Given the description of an element on the screen output the (x, y) to click on. 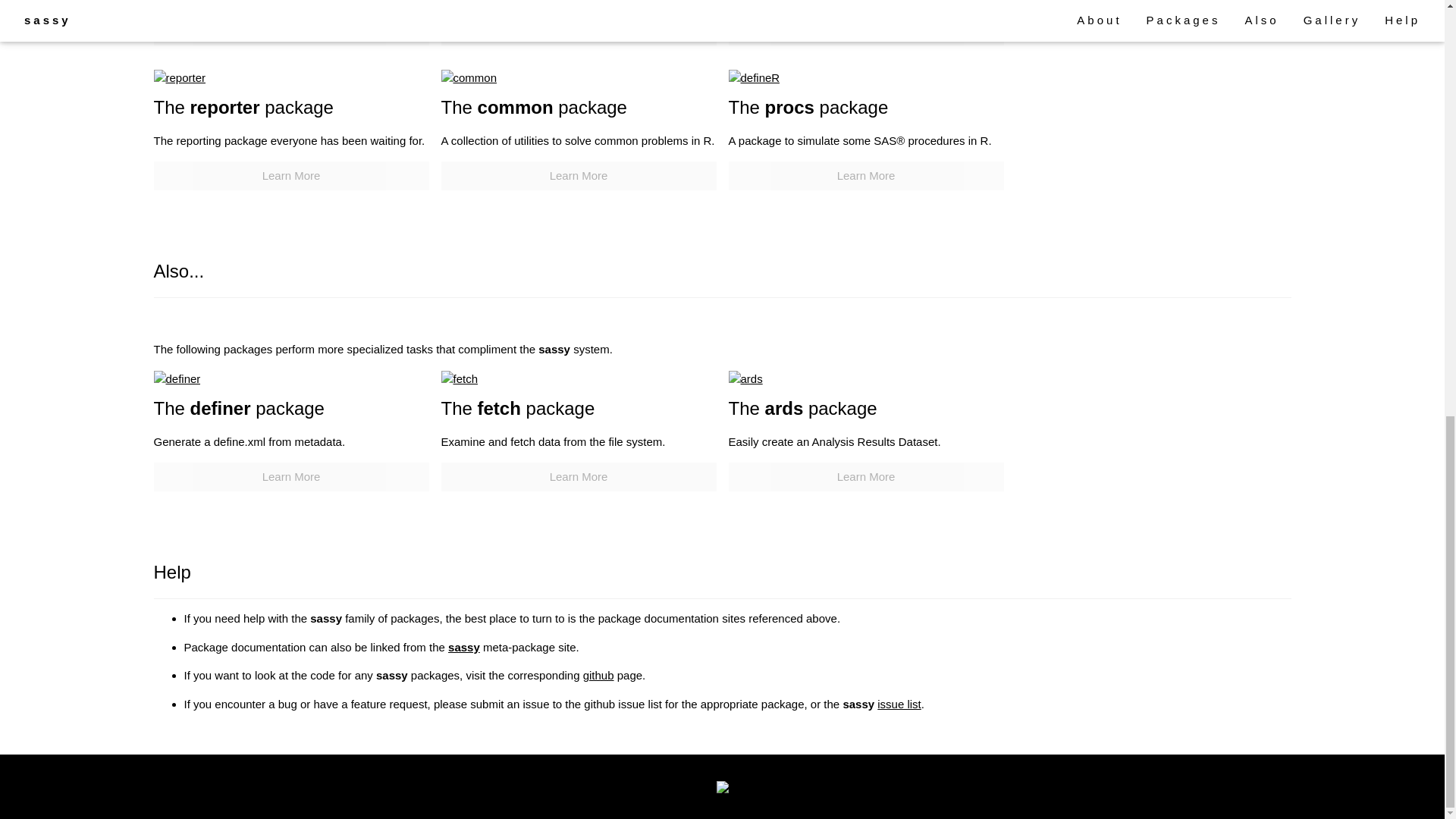
Learn More (578, 175)
Learn More (578, 30)
Learn More (290, 175)
sassy (464, 646)
Learn More (865, 30)
Learn More (290, 477)
The R Project (722, 785)
github (598, 675)
issue list (899, 703)
Learn More (578, 477)
